Given the description of an element on the screen output the (x, y) to click on. 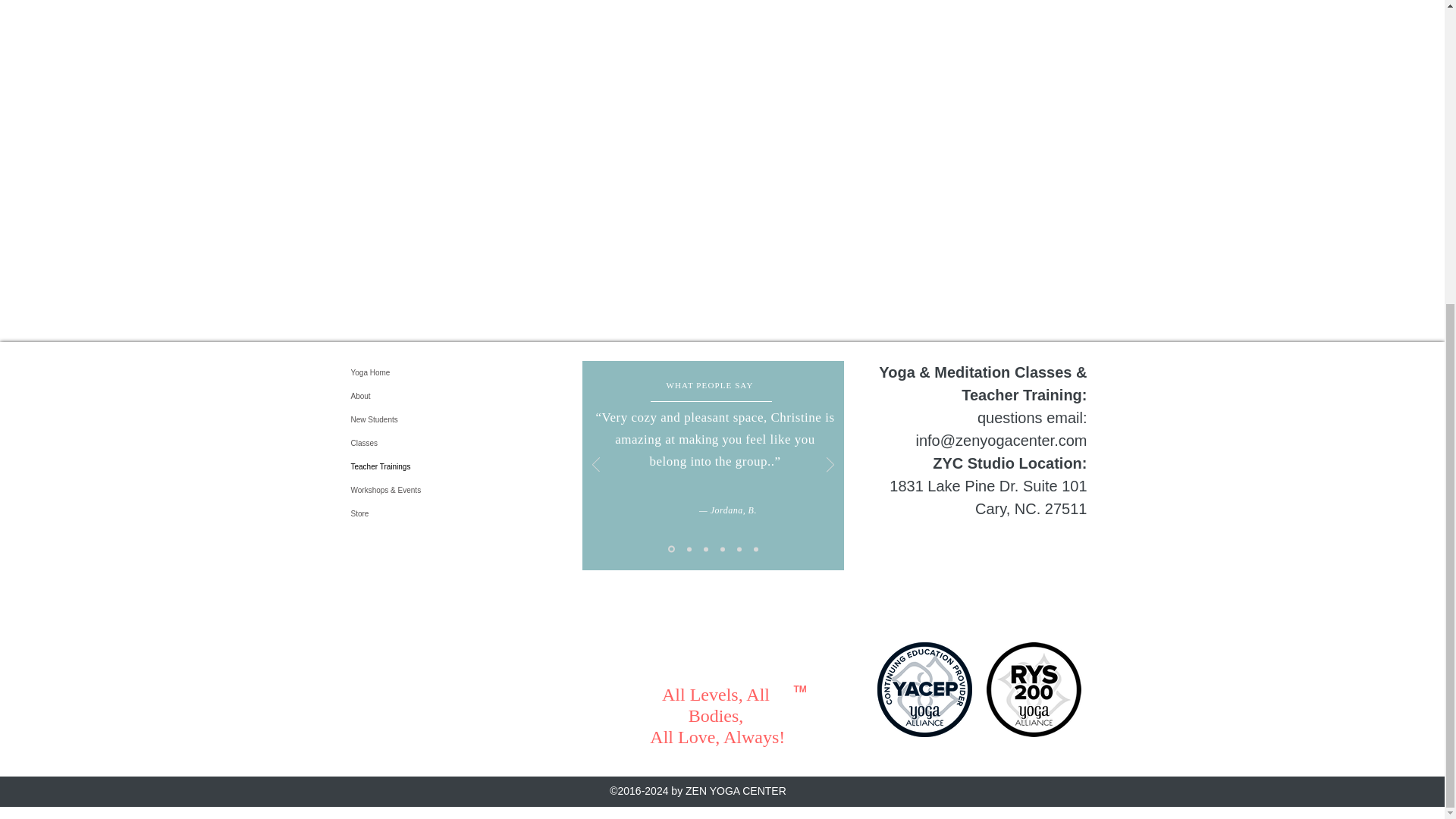
New Students (397, 419)
Yoga Home (397, 372)
Store (397, 513)
Teacher Trainings (397, 466)
About (397, 395)
